Given the description of an element on the screen output the (x, y) to click on. 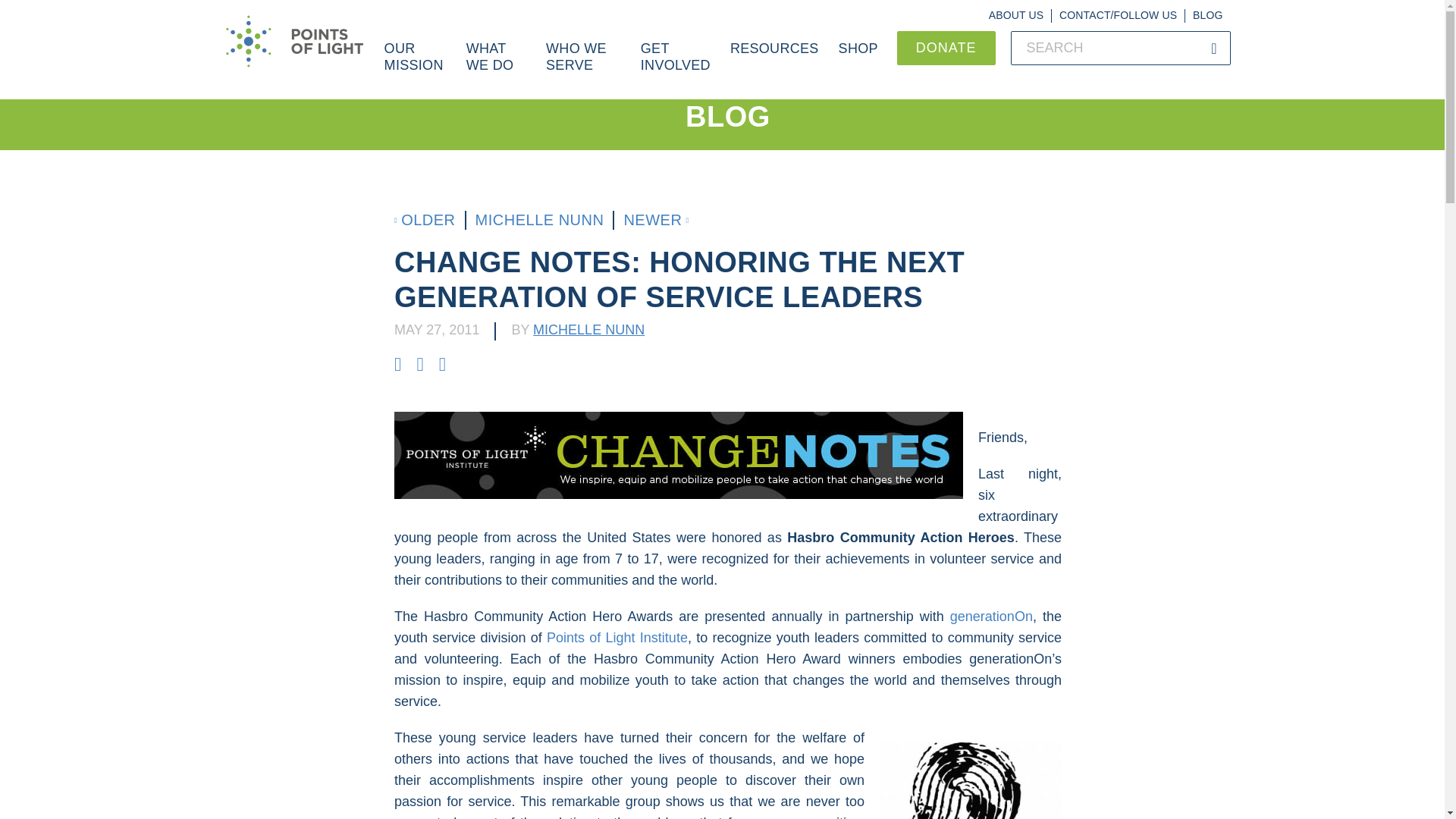
ABOUT US (1016, 15)
WHO WE SERVE (582, 65)
BLOG (1207, 15)
OUR MISSION (415, 65)
WHAT WE DO (496, 65)
